Given the description of an element on the screen output the (x, y) to click on. 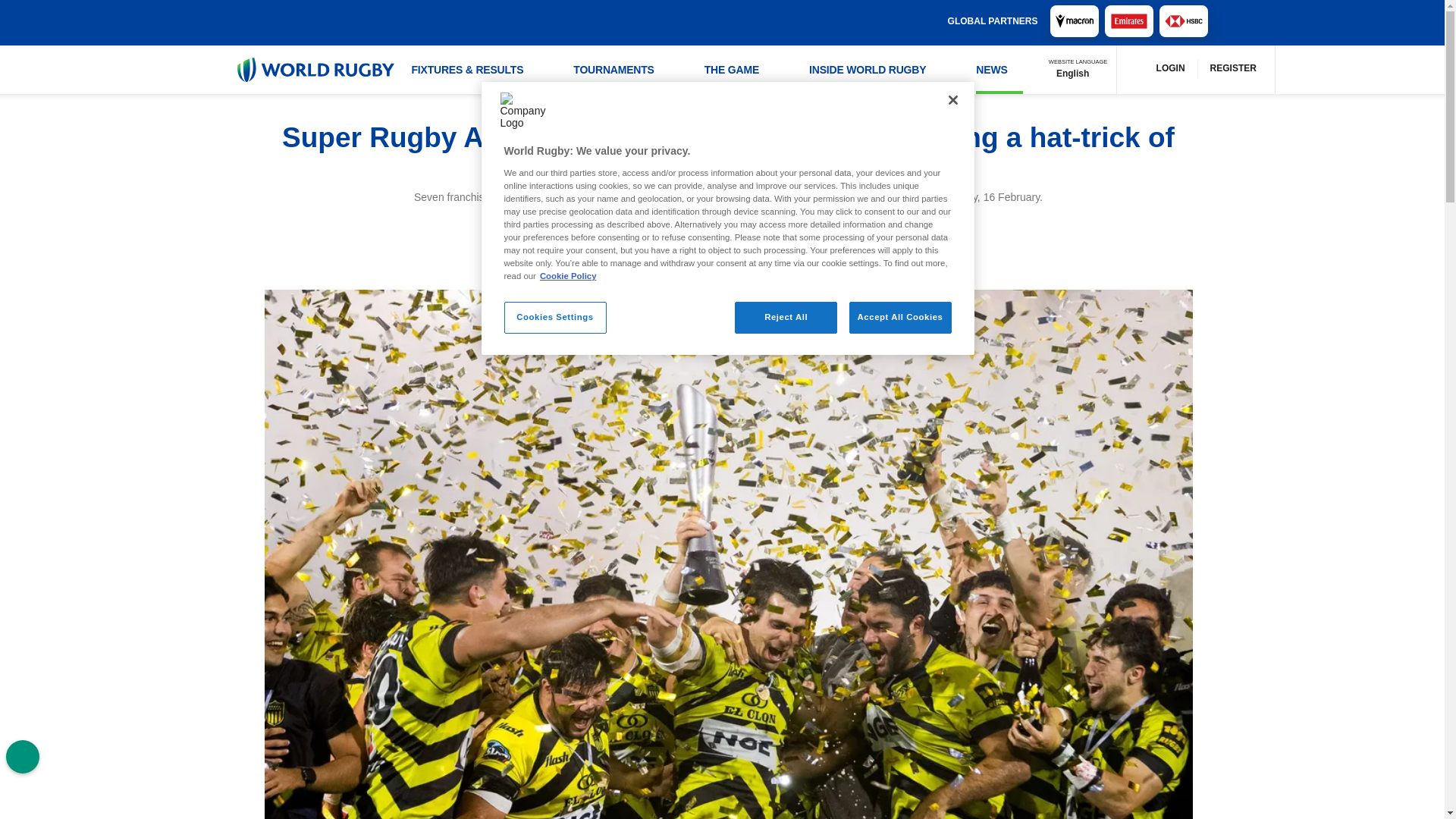
1 characters minimum (706, 20)
Company Logo (524, 116)
World Rugby (314, 69)
